Given the description of an element on the screen output the (x, y) to click on. 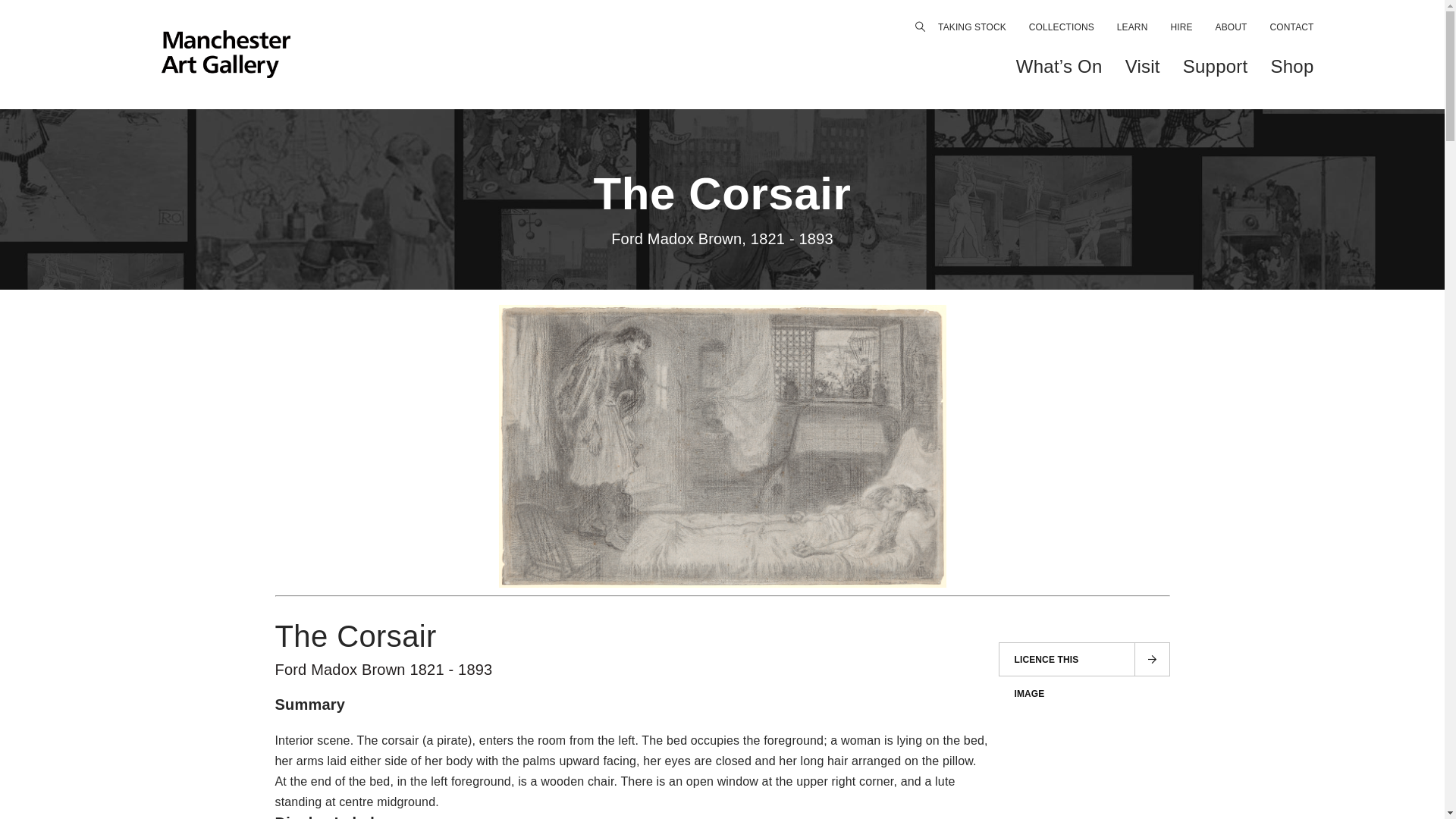
LICENCE THIS IMAGE (1083, 659)
TAKING STOCK (971, 27)
ABOUT (1231, 27)
Visit (1142, 66)
Ford Madox Brown 1821 - 1893 (383, 669)
COLLECTIONS (1061, 27)
Support (1214, 66)
Shop (1291, 66)
CONTACT (1291, 27)
LEARN (1132, 27)
